Given the description of an element on the screen output the (x, y) to click on. 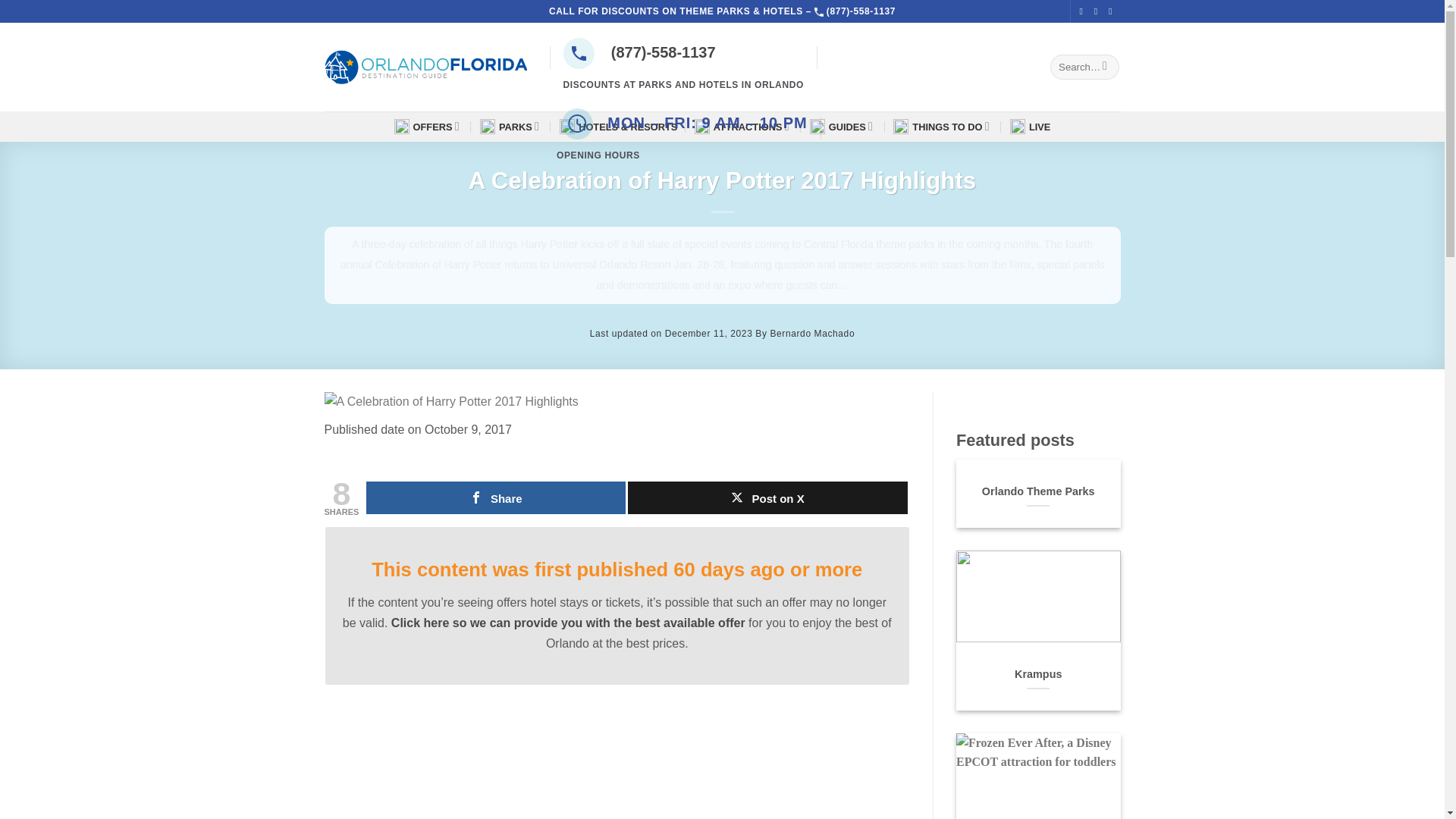
ATTRACTIONS (743, 126)
PARKS (511, 126)
OFFERS (428, 126)
